Given the description of an element on the screen output the (x, y) to click on. 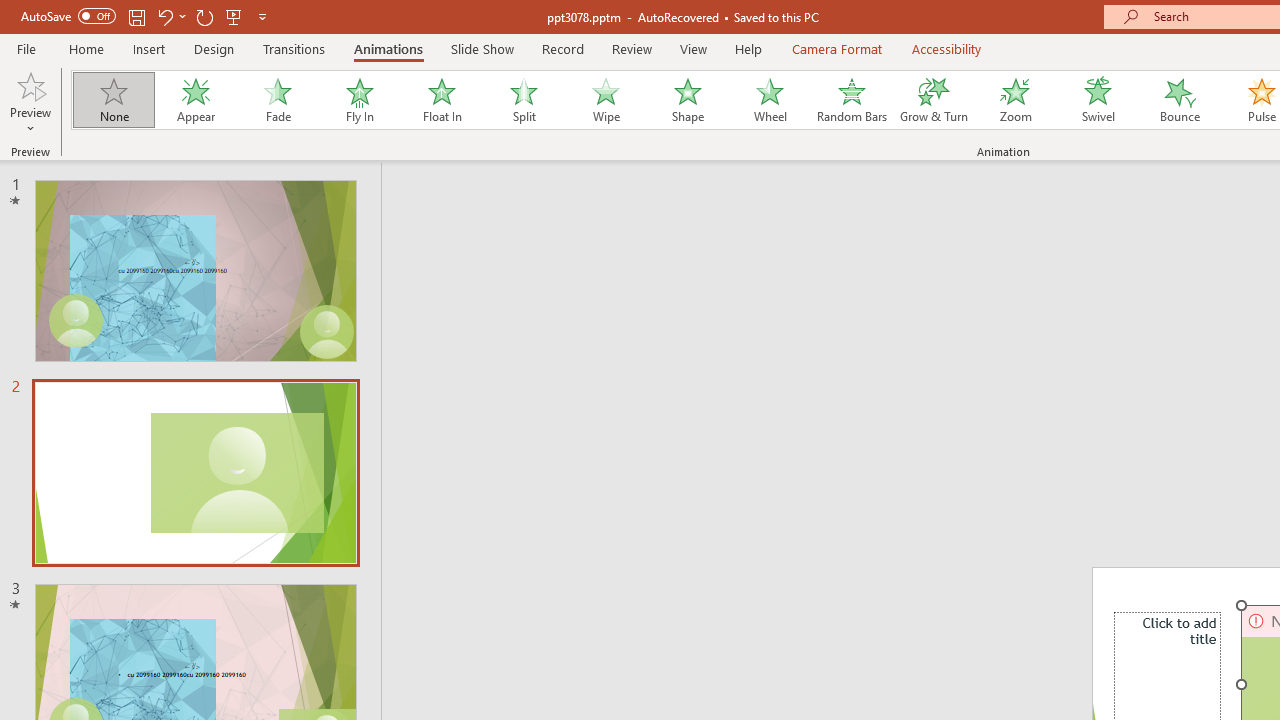
Wheel (770, 100)
Shape (687, 100)
Split (523, 100)
Swivel (1098, 100)
